Given the description of an element on the screen output the (x, y) to click on. 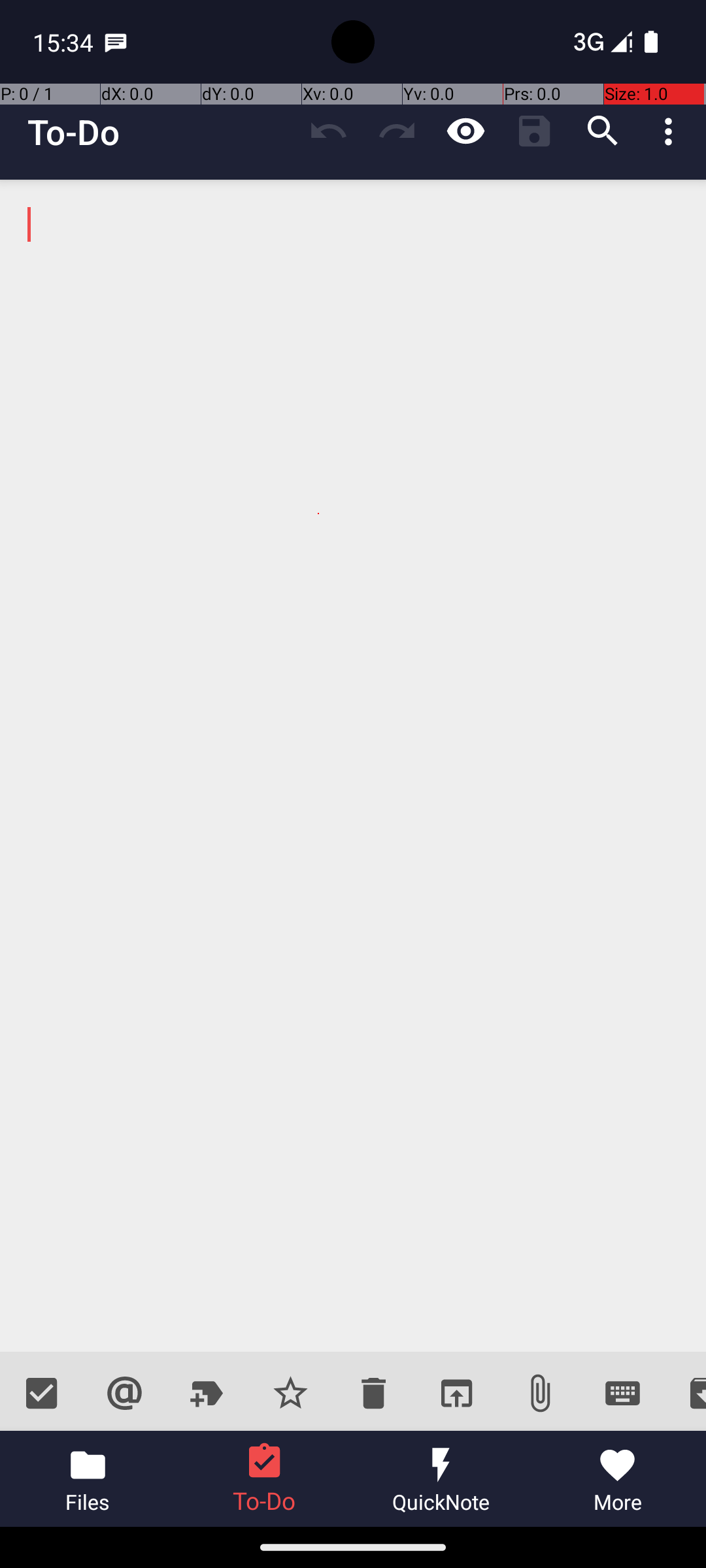
Toggle done Element type: android.widget.ImageView (41, 1392)
Add context Element type: android.widget.ImageView (124, 1392)
Add project Element type: android.widget.ImageView (207, 1392)
Priority Element type: android.widget.ImageView (290, 1392)
Archive completed tasks Element type: android.widget.ImageView (685, 1392)
